Given the description of an element on the screen output the (x, y) to click on. 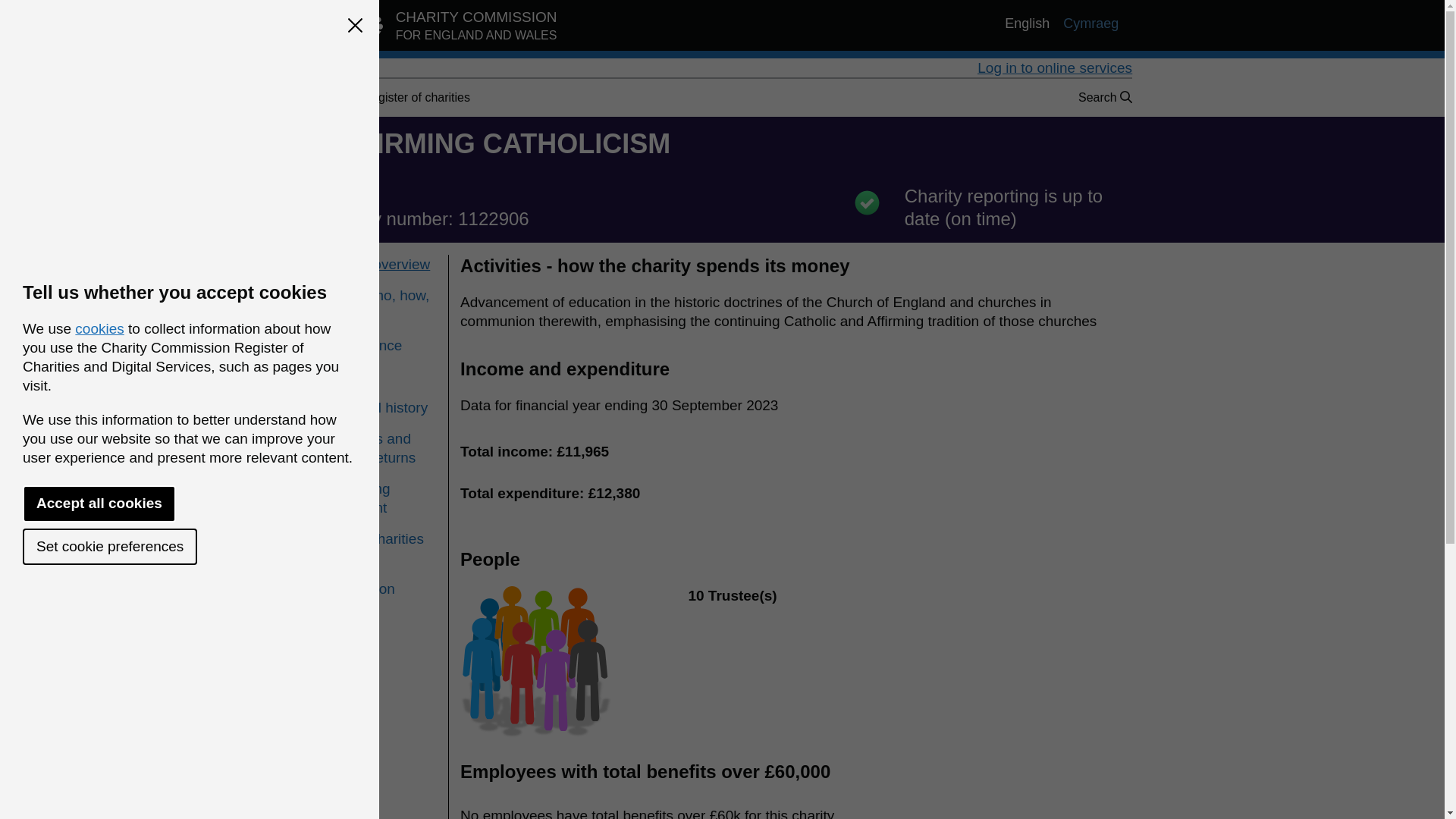
cookies (99, 328)
Log in to online services (1054, 67)
Governance (379, 344)
Linked charities (379, 538)
About the register of charities (391, 97)
Accept all cookies (99, 503)
Accounts and annual returns (379, 447)
Charity overview (376, 263)
Set cookie preferences (109, 546)
Trustees (379, 375)
